Given the description of an element on the screen output the (x, y) to click on. 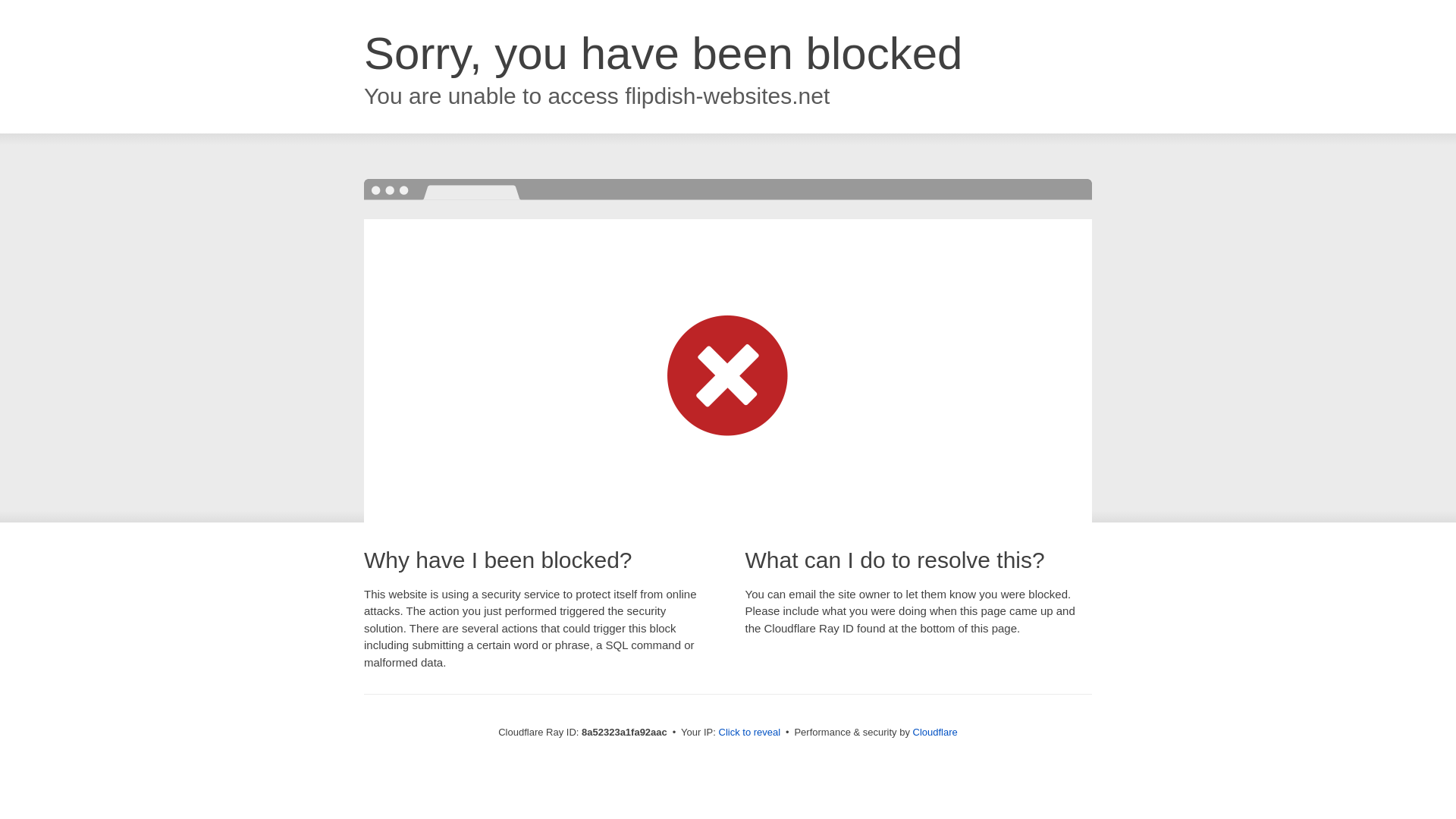
Click to reveal (749, 732)
Cloudflare (935, 731)
